Given the description of an element on the screen output the (x, y) to click on. 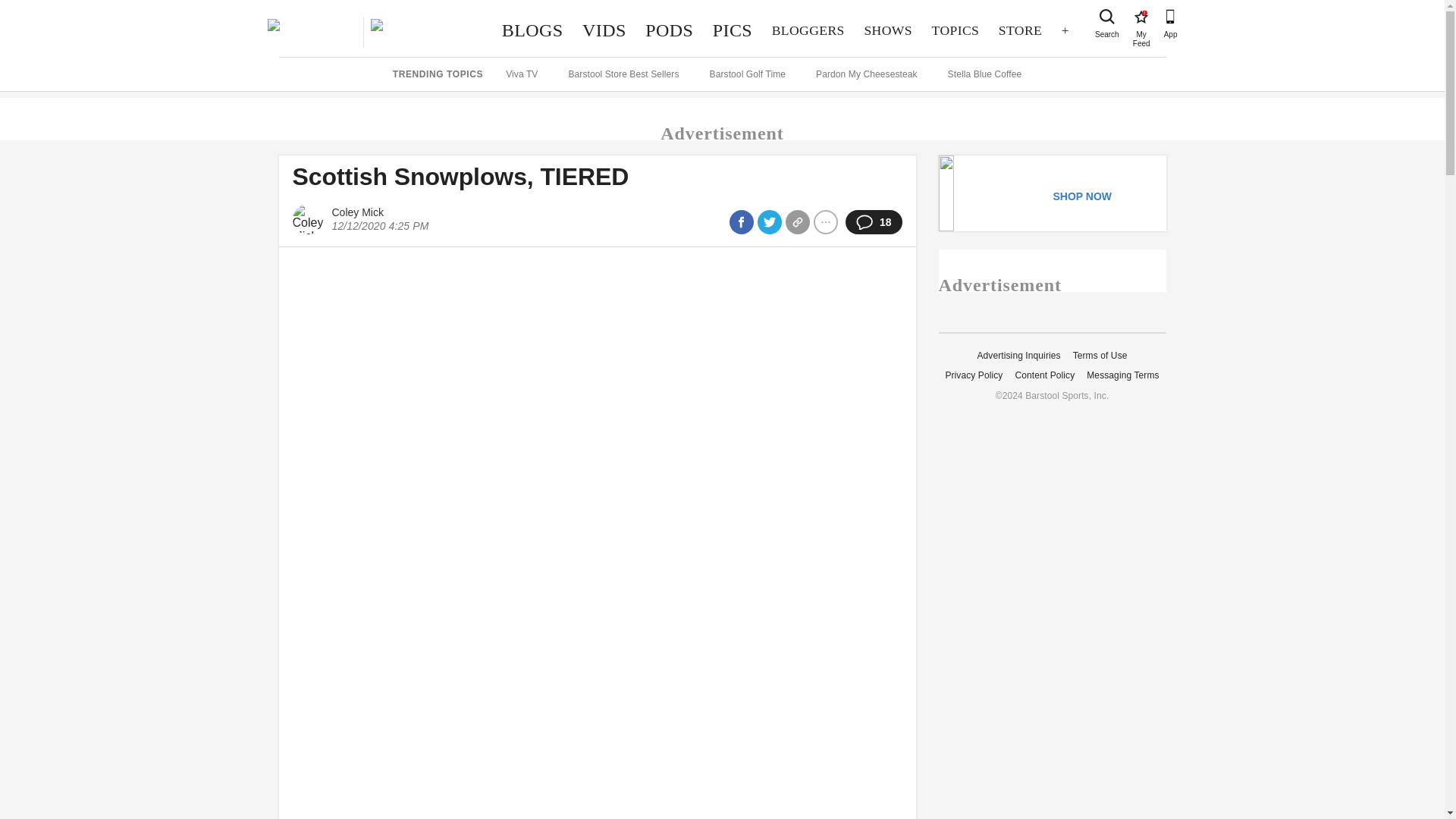
PODS (668, 30)
Search (1107, 16)
PICS (732, 30)
BLOGS (532, 30)
STORE (1141, 16)
TOPICS (1019, 30)
SHOWS (954, 30)
BLOGGERS (887, 30)
VIDS (807, 30)
